Given the description of an element on the screen output the (x, y) to click on. 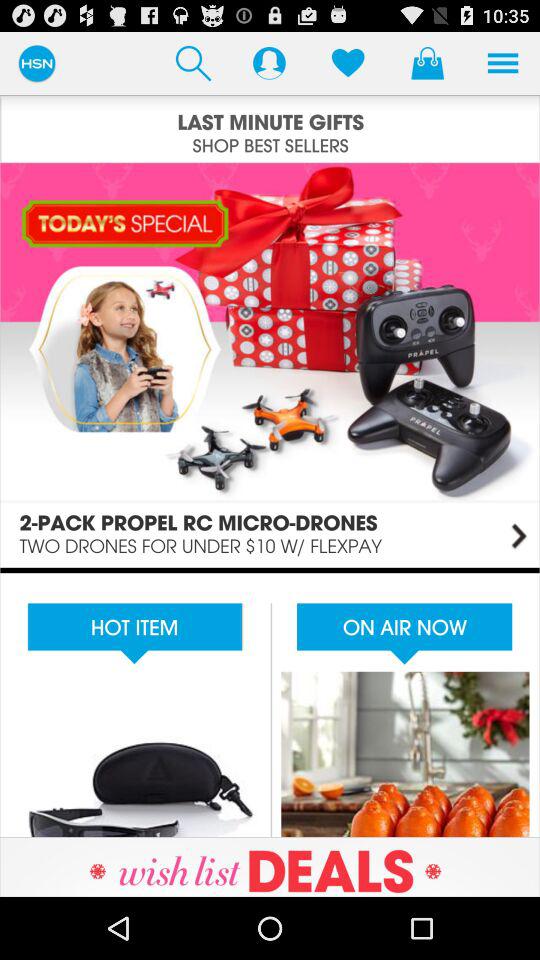
click on adds (269, 702)
